Given the description of an element on the screen output the (x, y) to click on. 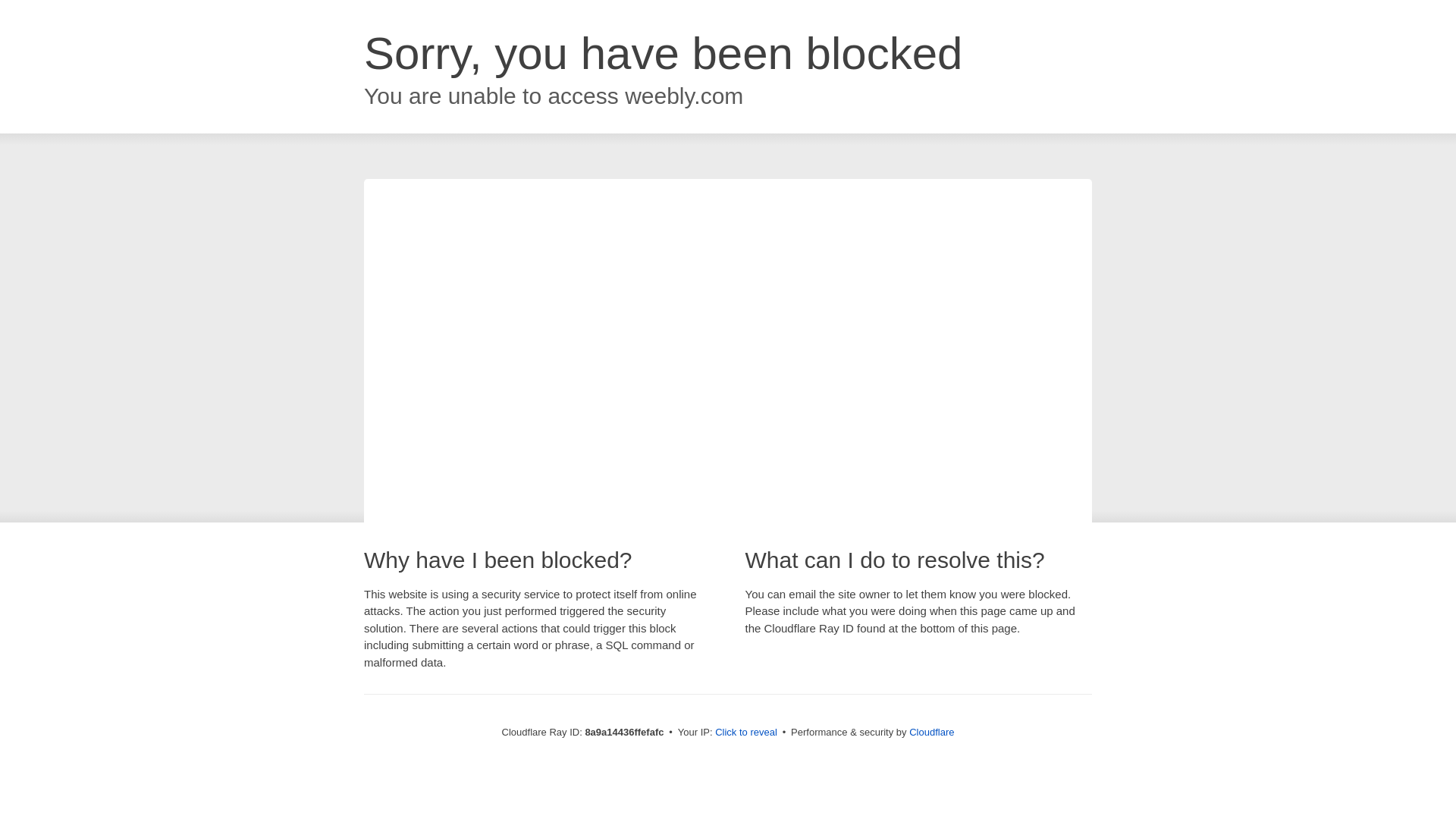
Cloudflare (930, 731)
Click to reveal (745, 732)
